Given the description of an element on the screen output the (x, y) to click on. 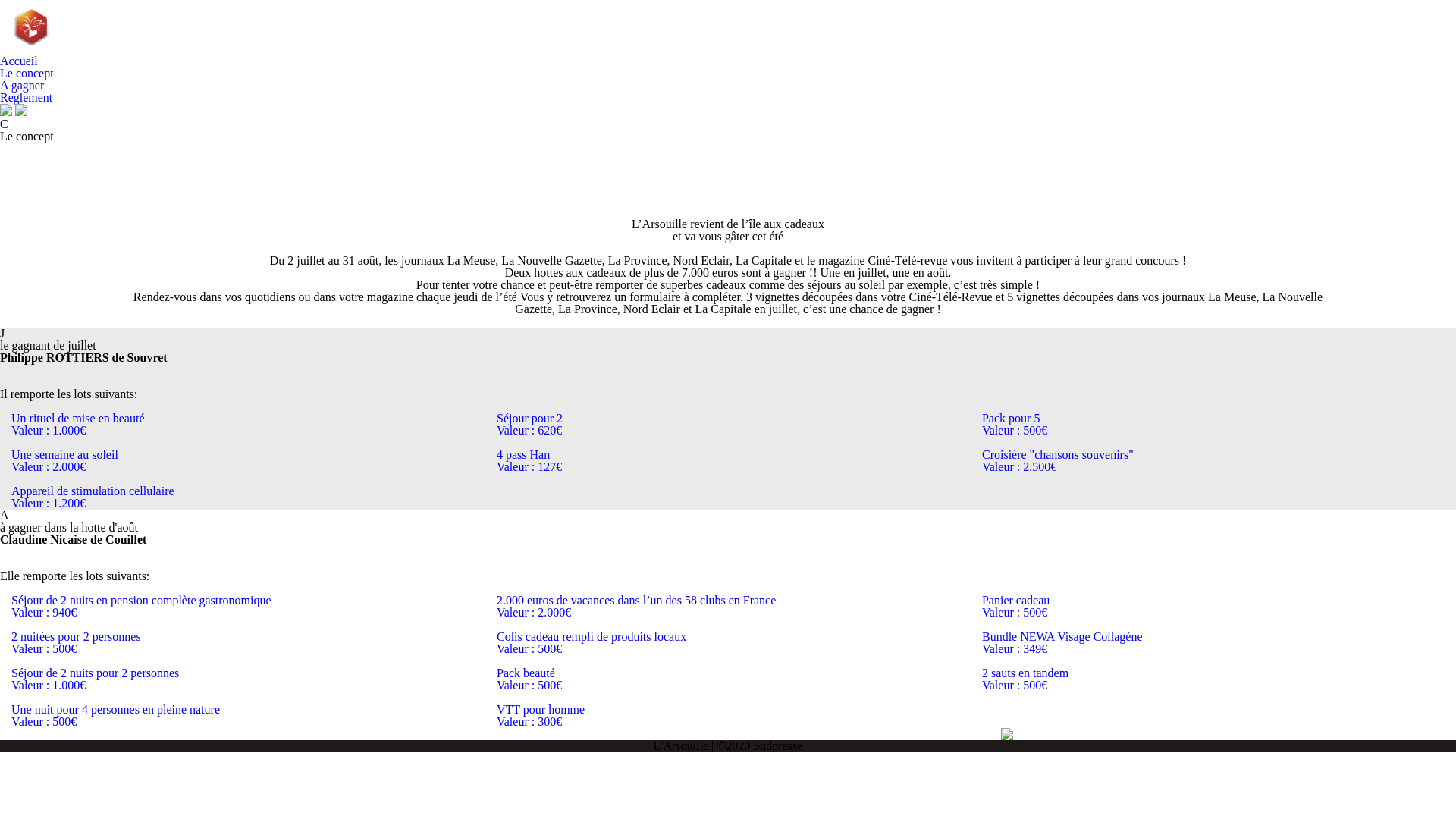
Accueil Element type: text (18, 60)
Reglement Element type: text (26, 97)
Le concept Element type: text (26, 72)
A gagner Element type: text (21, 84)
